Given the description of an element on the screen output the (x, y) to click on. 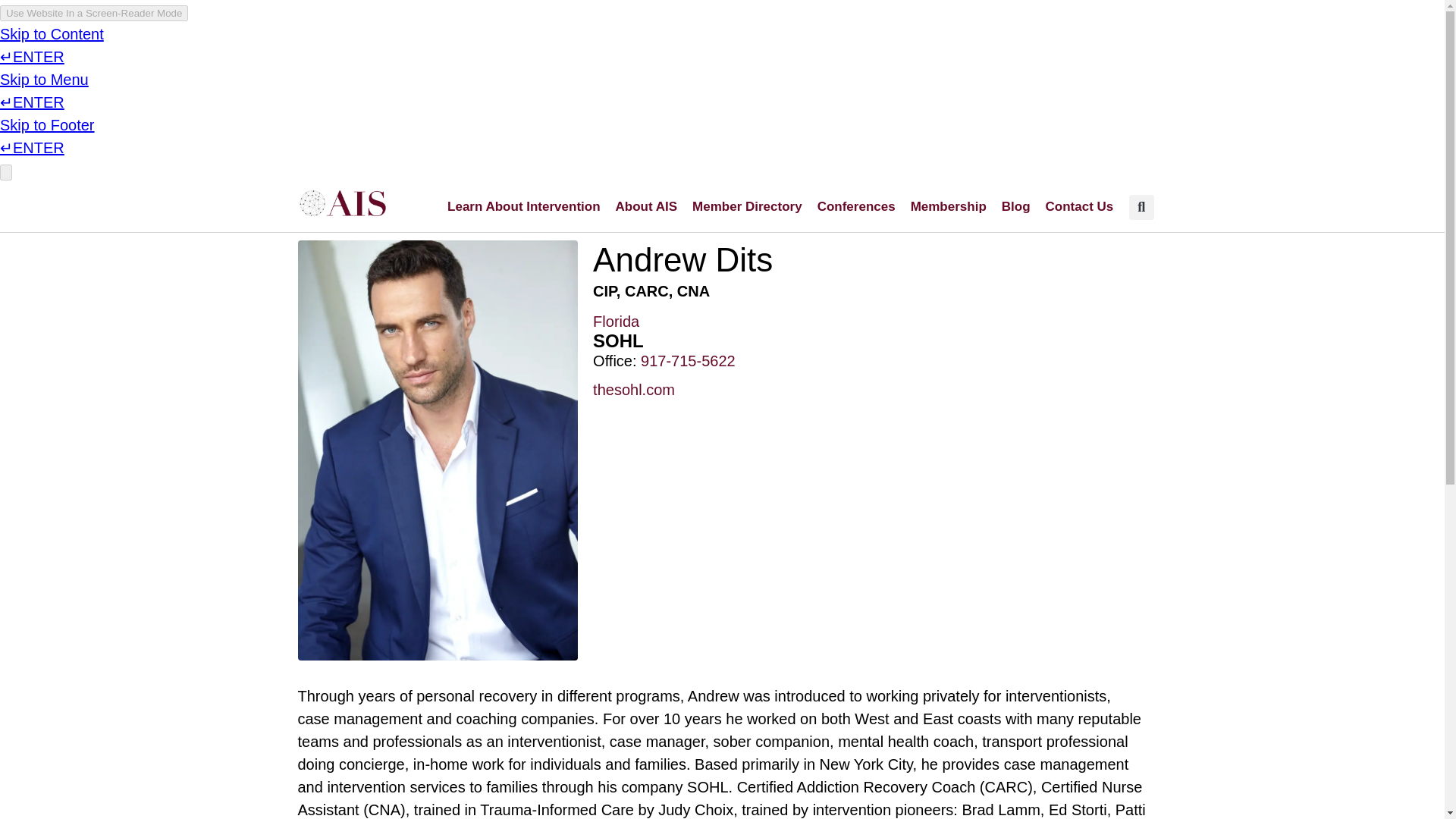
Andrew Dits (682, 259)
Learn About Intervention (523, 206)
thesohl.com (633, 389)
Membership (948, 206)
Florida (615, 321)
About AIS (646, 206)
Blog (1016, 206)
Member Directory (746, 206)
Conferences (855, 206)
917-715-5622 (687, 360)
